Given the description of an element on the screen output the (x, y) to click on. 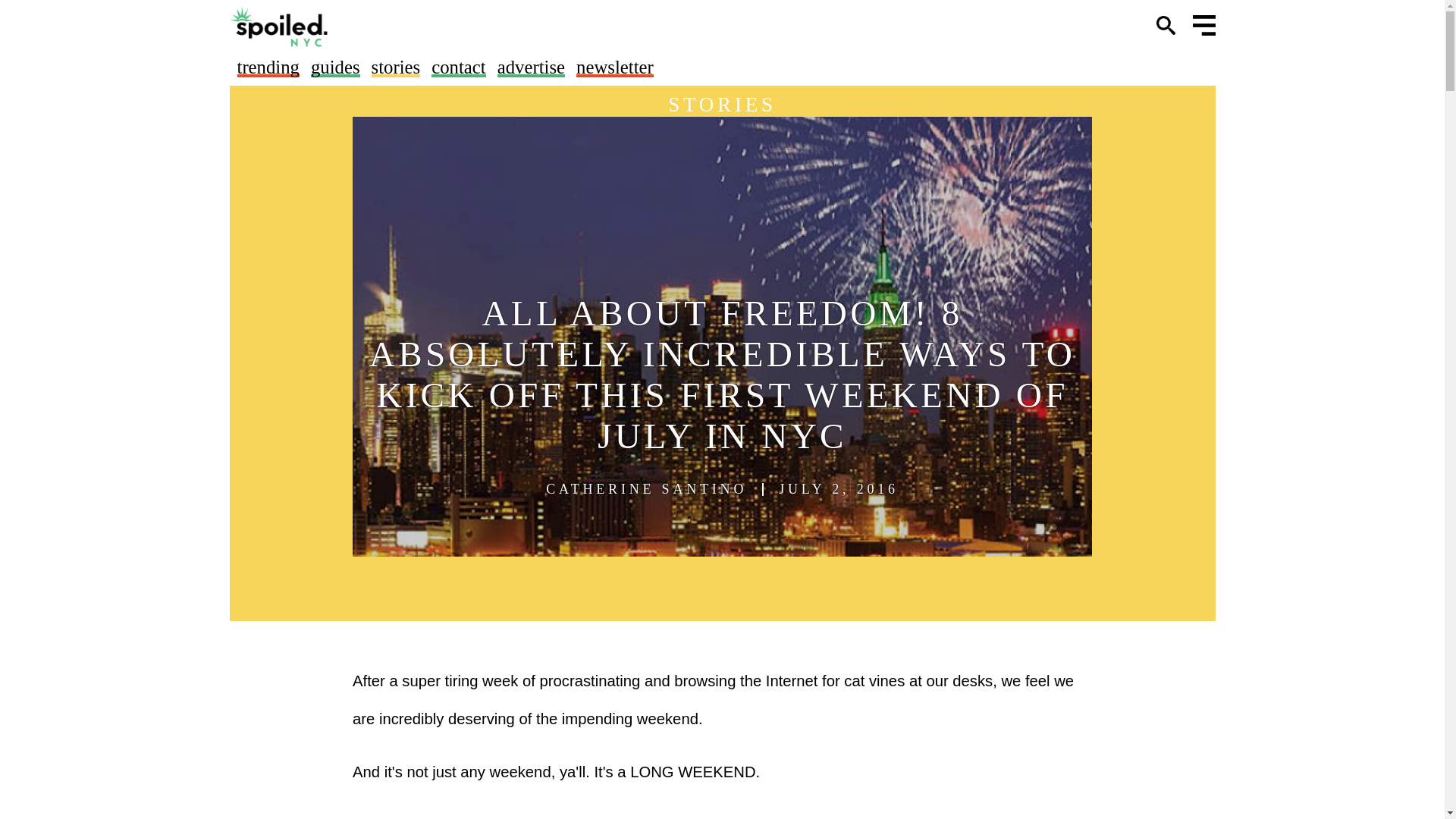
STORIES (722, 104)
trending (266, 66)
guides (335, 66)
newsletter (614, 66)
contact (457, 66)
stories (395, 66)
CATHERINE SANTINO (646, 489)
advertise (530, 66)
